Given the description of an element on the screen output the (x, y) to click on. 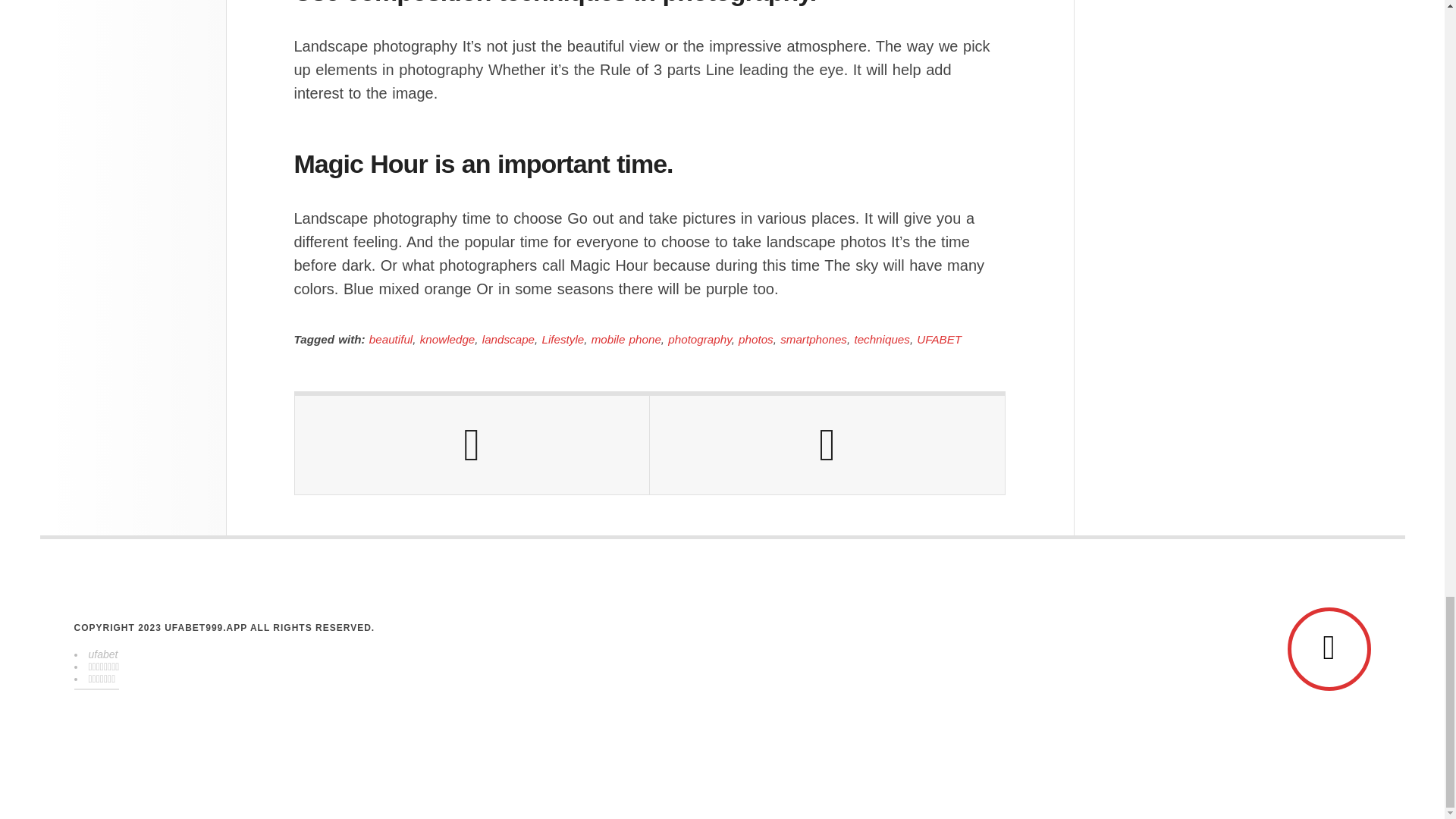
photography (699, 338)
landscape (507, 338)
ufabet (102, 654)
UFABET (938, 338)
Previous Post (471, 444)
techniques (880, 338)
Lifestyle (562, 338)
smartphones (813, 338)
knowledge (448, 338)
Next Post (826, 444)
